Given the description of an element on the screen output the (x, y) to click on. 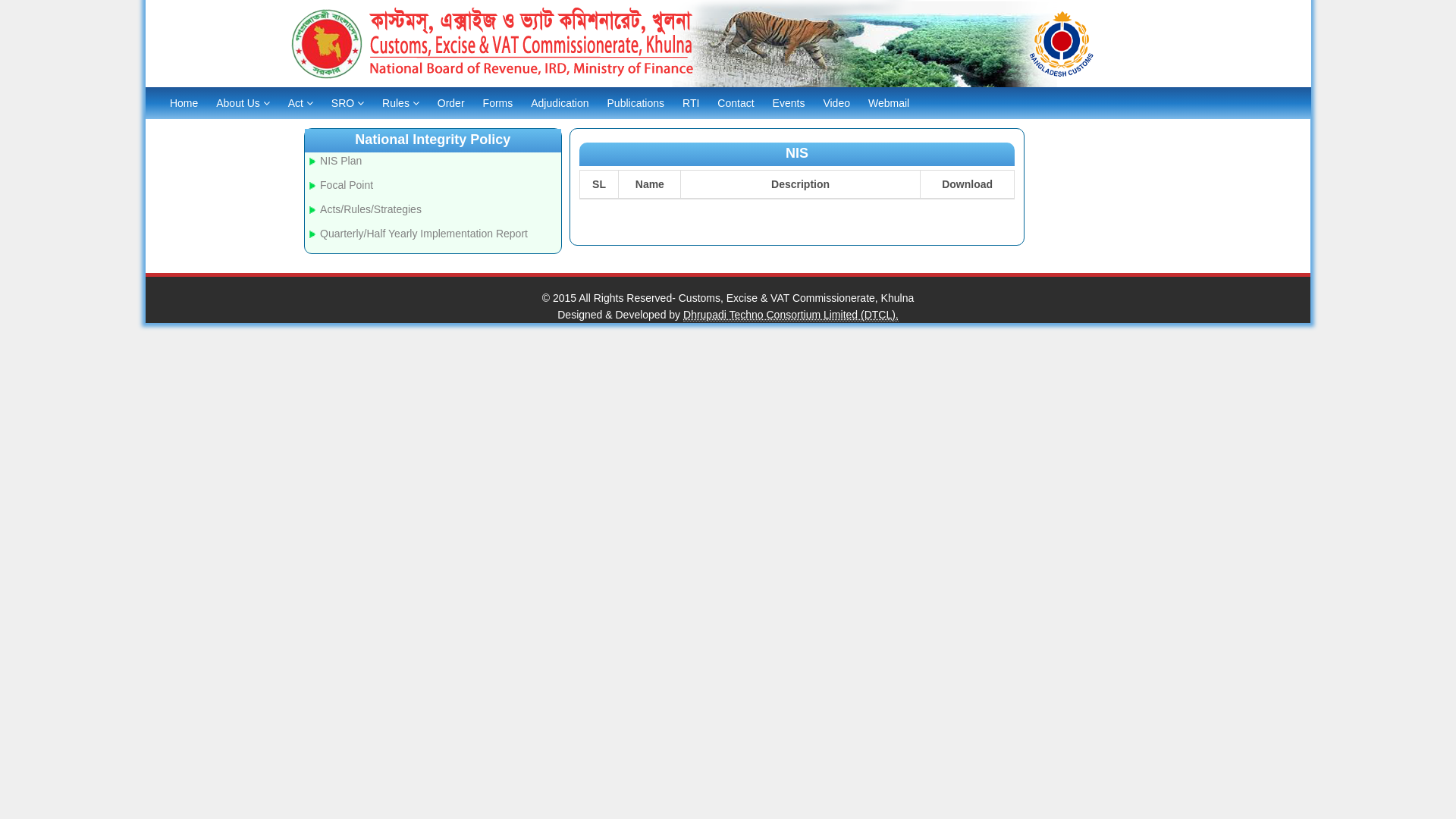
RTI Element type: text (690, 103)
Events Element type: text (788, 103)
Customs, Excise & VAT Commissionerate, Khulna Element type: text (795, 297)
Acts/Rules/Strategies Element type: text (370, 209)
Rules Element type: text (400, 103)
Act Element type: text (300, 103)
Adjudication Element type: text (559, 103)
About Us Element type: text (242, 103)
Publications Element type: text (636, 103)
Forms Element type: text (497, 103)
Home Element type: text (183, 103)
Quarterly/Half Yearly Implementation Report Element type: text (423, 233)
Dhrupadi Techno Consortium Limited (DTCL). Element type: text (790, 314)
NIS Plan Element type: text (340, 160)
Order Element type: text (450, 103)
Contact Element type: text (735, 103)
Video Element type: text (836, 103)
Webmail Element type: text (888, 103)
Focal Point Element type: text (346, 184)
SRO Element type: text (347, 103)
